Given the description of an element on the screen output the (x, y) to click on. 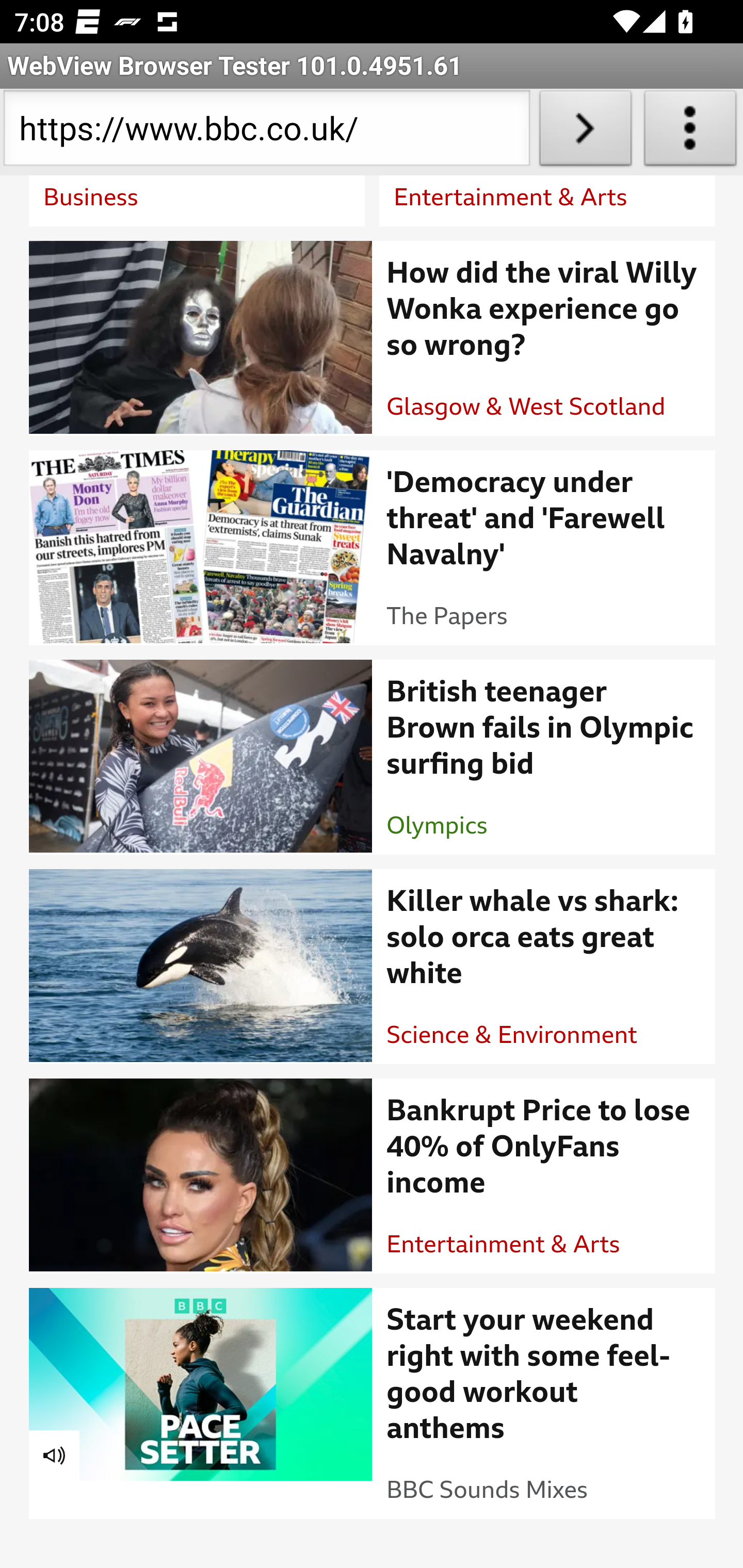
https://www.bbc.co.uk/ (266, 132)
Load URL (585, 132)
About WebView (690, 132)
Business (90, 198)
Entertainment & Arts (510, 198)
Glasgow & West Scotland (526, 408)
'Democracy under threat' and 'Farewell Navalny' (544, 520)
Olympics (436, 827)
Killer whale vs shark: solo orca eats great white (544, 939)
Science & Environment (512, 1037)
Bankrupt Price to lose 40% of OnlyFans income (544, 1149)
Entertainment & Arts (503, 1246)
